Given the description of an element on the screen output the (x, y) to click on. 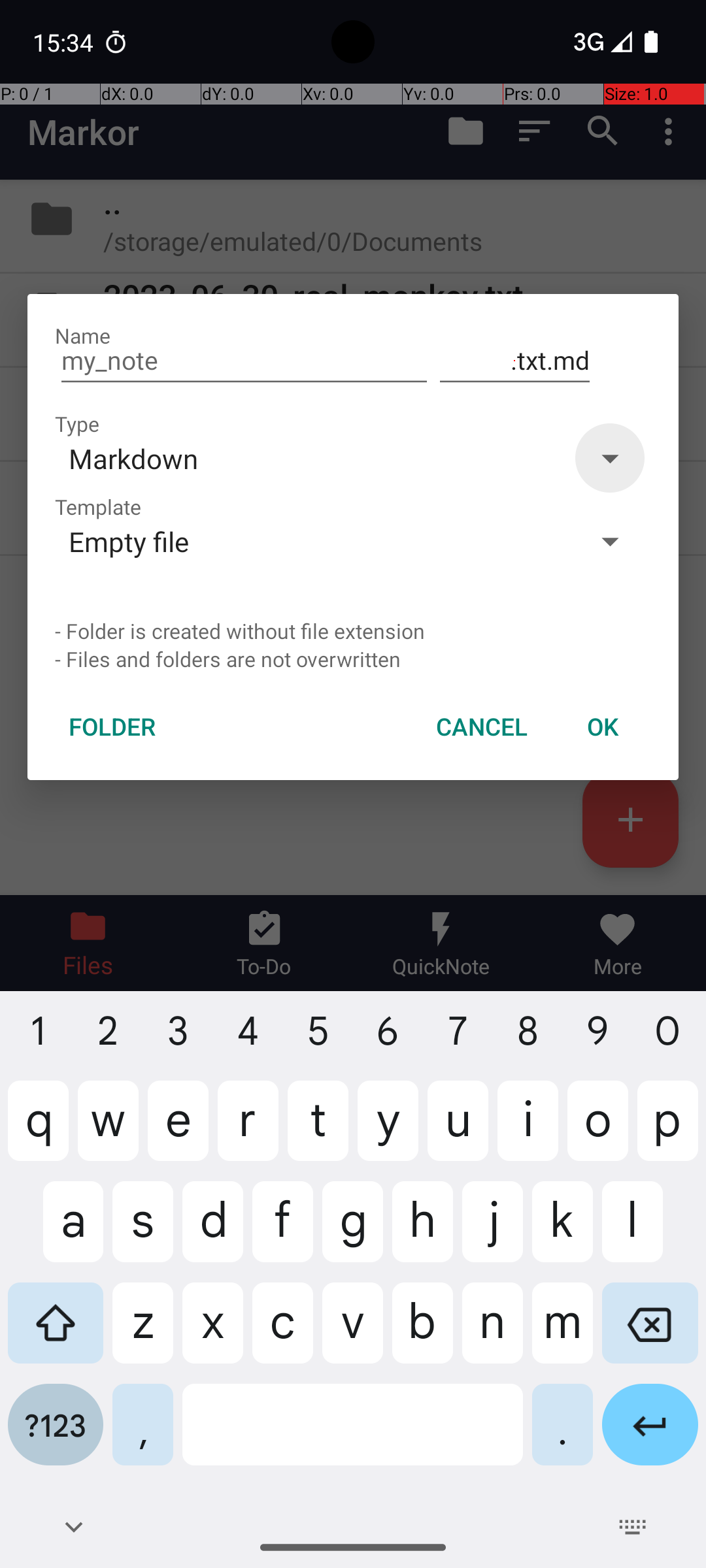
.txt.md Element type: android.widget.EditText (514, 360)
